Given the description of an element on the screen output the (x, y) to click on. 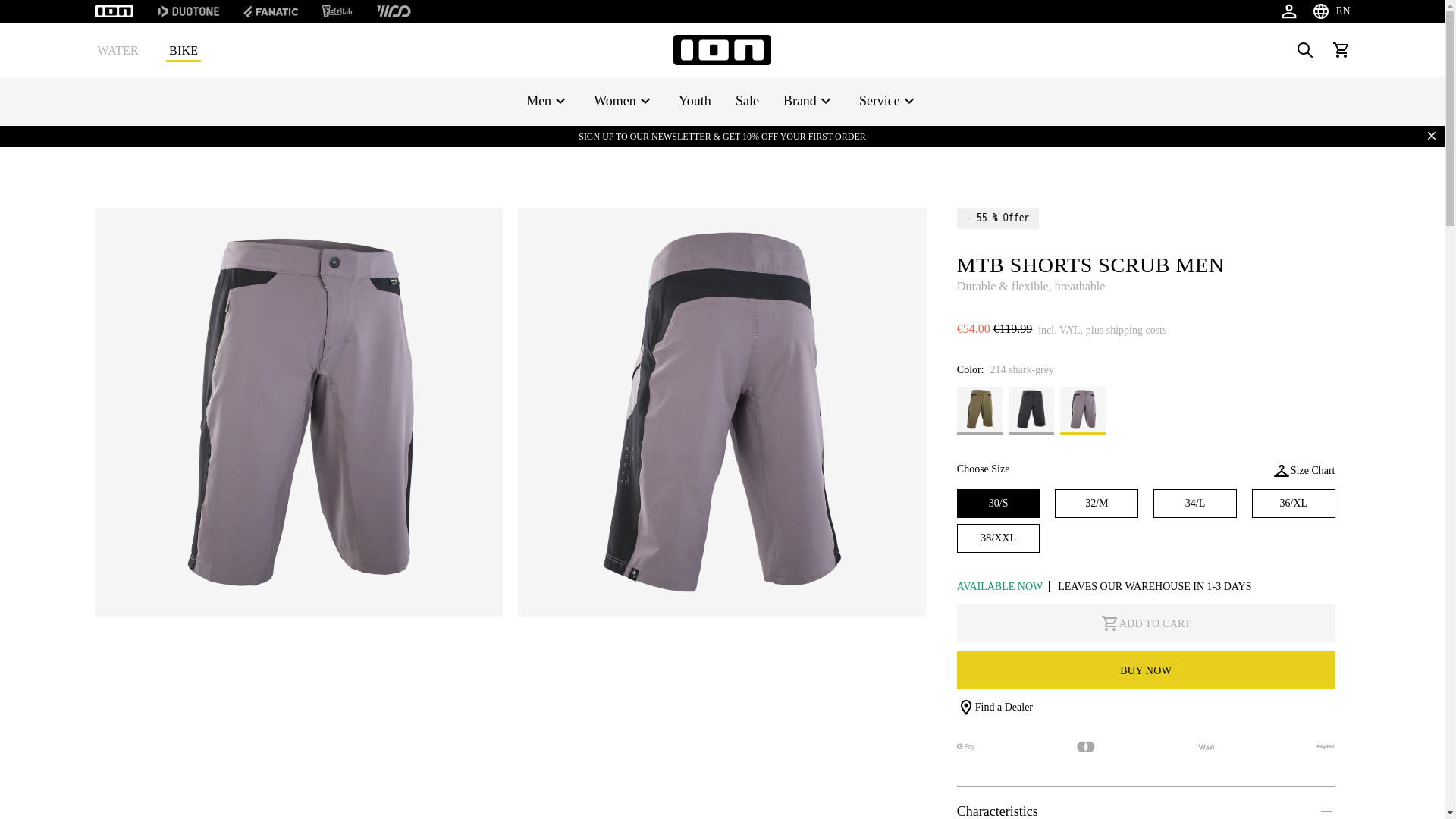
View cart (1339, 50)
Men (547, 101)
WATER (117, 49)
BIKE (182, 49)
Search (1304, 49)
